Given the description of an element on the screen output the (x, y) to click on. 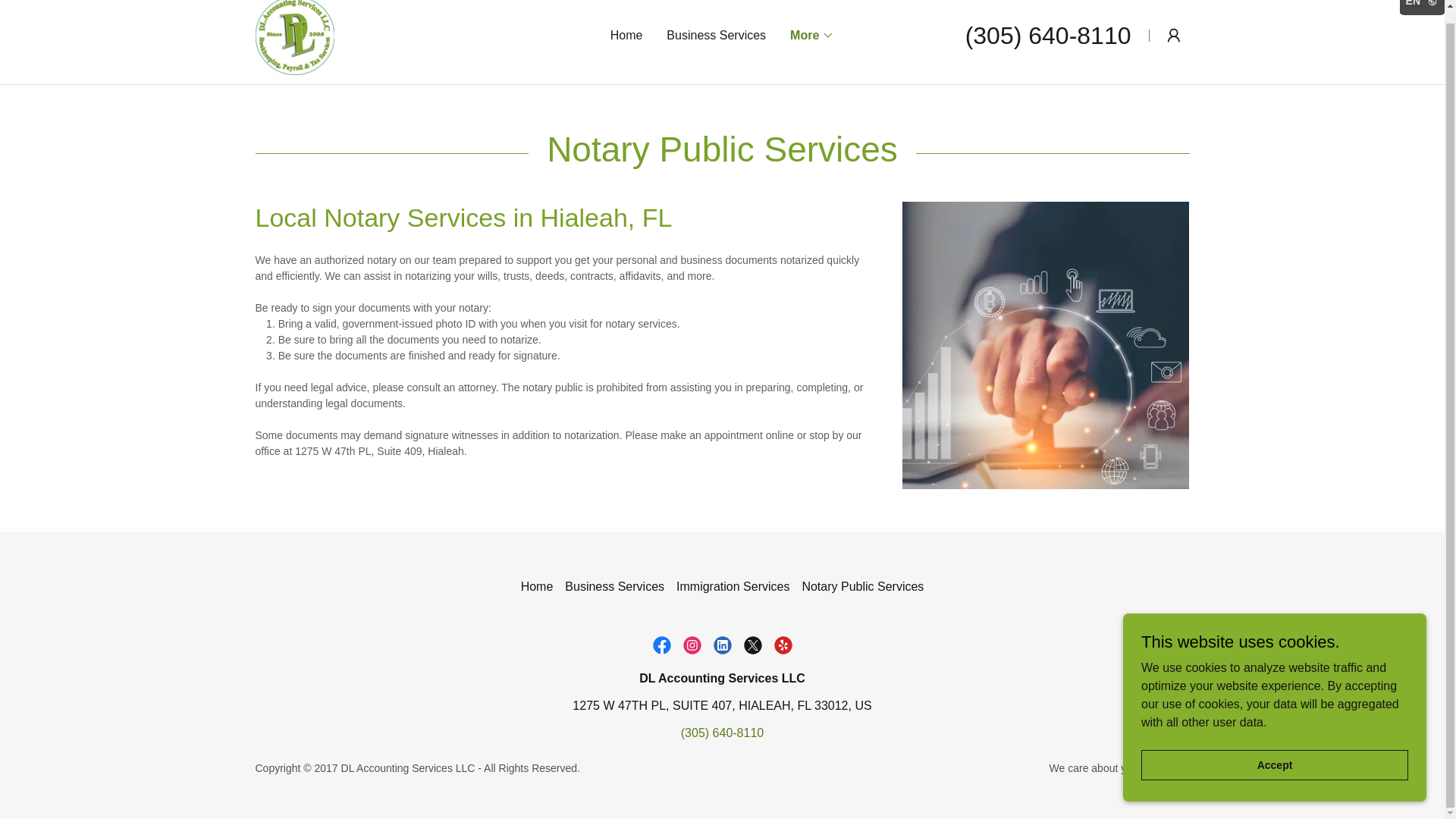
Immigration Services (731, 586)
Home (626, 35)
Business Services (614, 586)
DL Accounting Services LLC (293, 33)
Home (537, 586)
Business Services (716, 35)
More (812, 35)
